Given the description of an element on the screen output the (x, y) to click on. 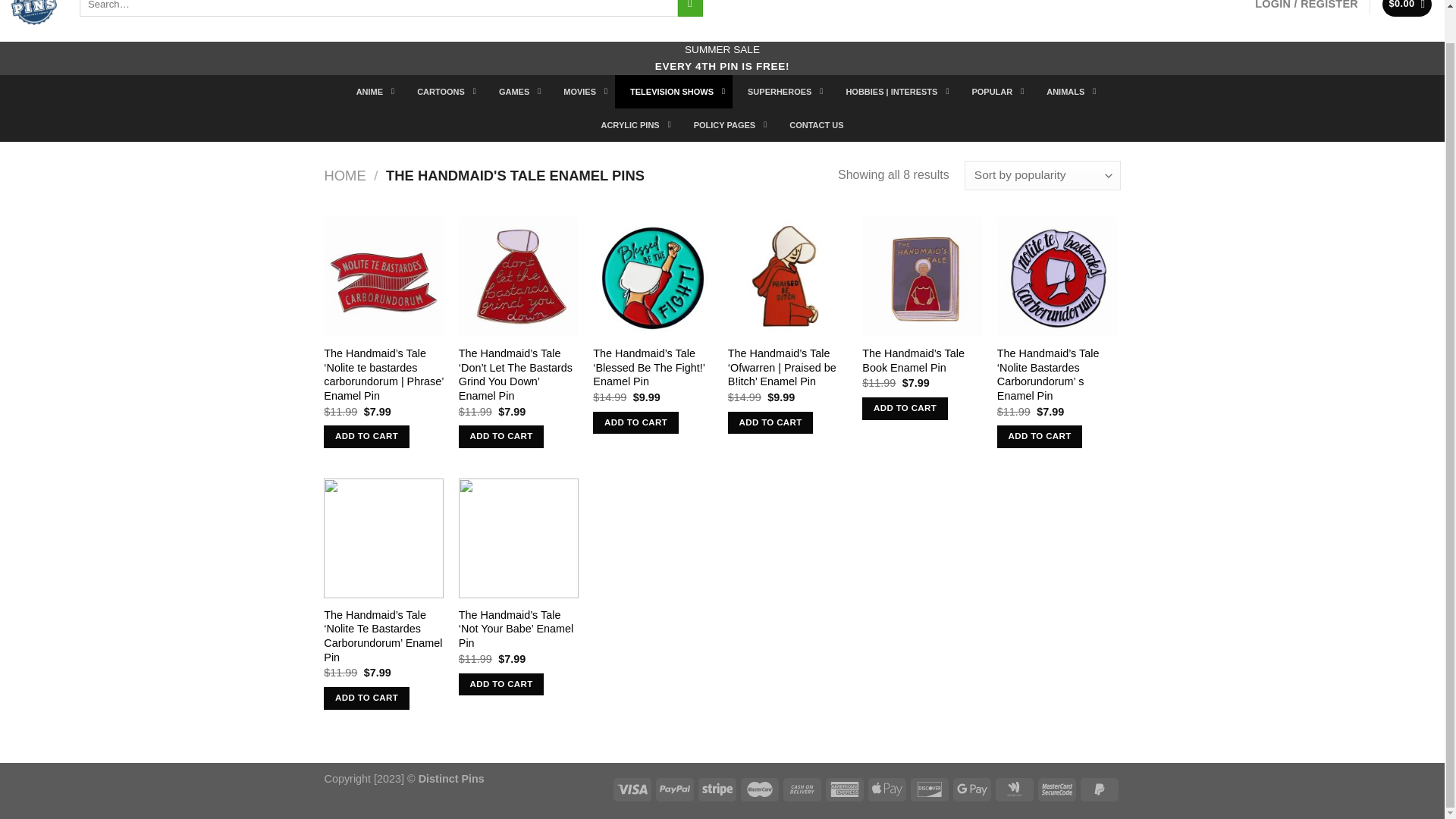
Search (690, 8)
Cart (1406, 8)
Login (1306, 10)
ANIME (370, 91)
